Given the description of an element on the screen output the (x, y) to click on. 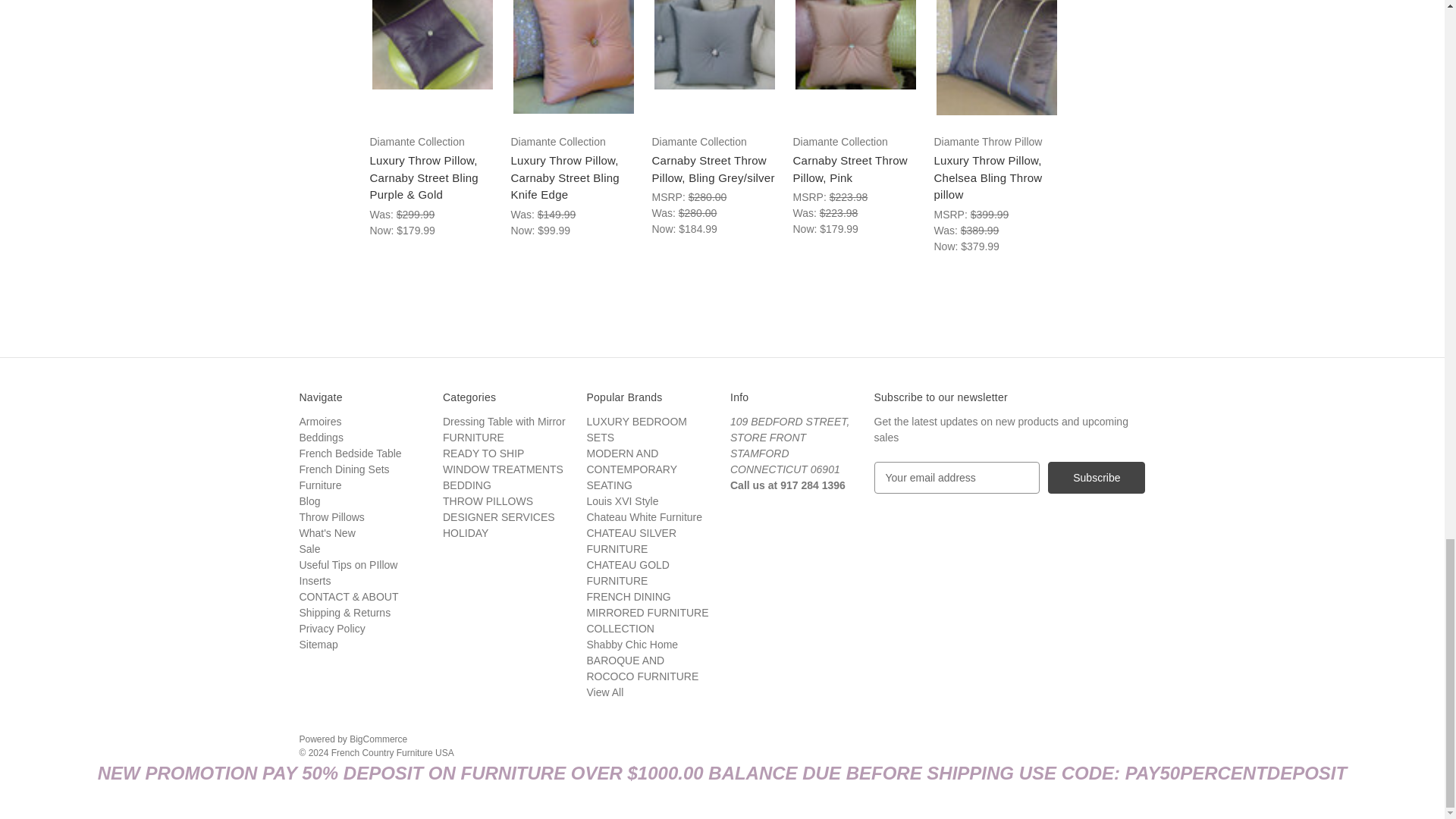
Luxury Throw Pillow, Chelsea Bling Throw pillow (996, 57)
Subscribe (1096, 477)
Luxury Throw Pillow, Carnaby Street Bling Knife Edge (572, 56)
